Given the description of an element on the screen output the (x, y) to click on. 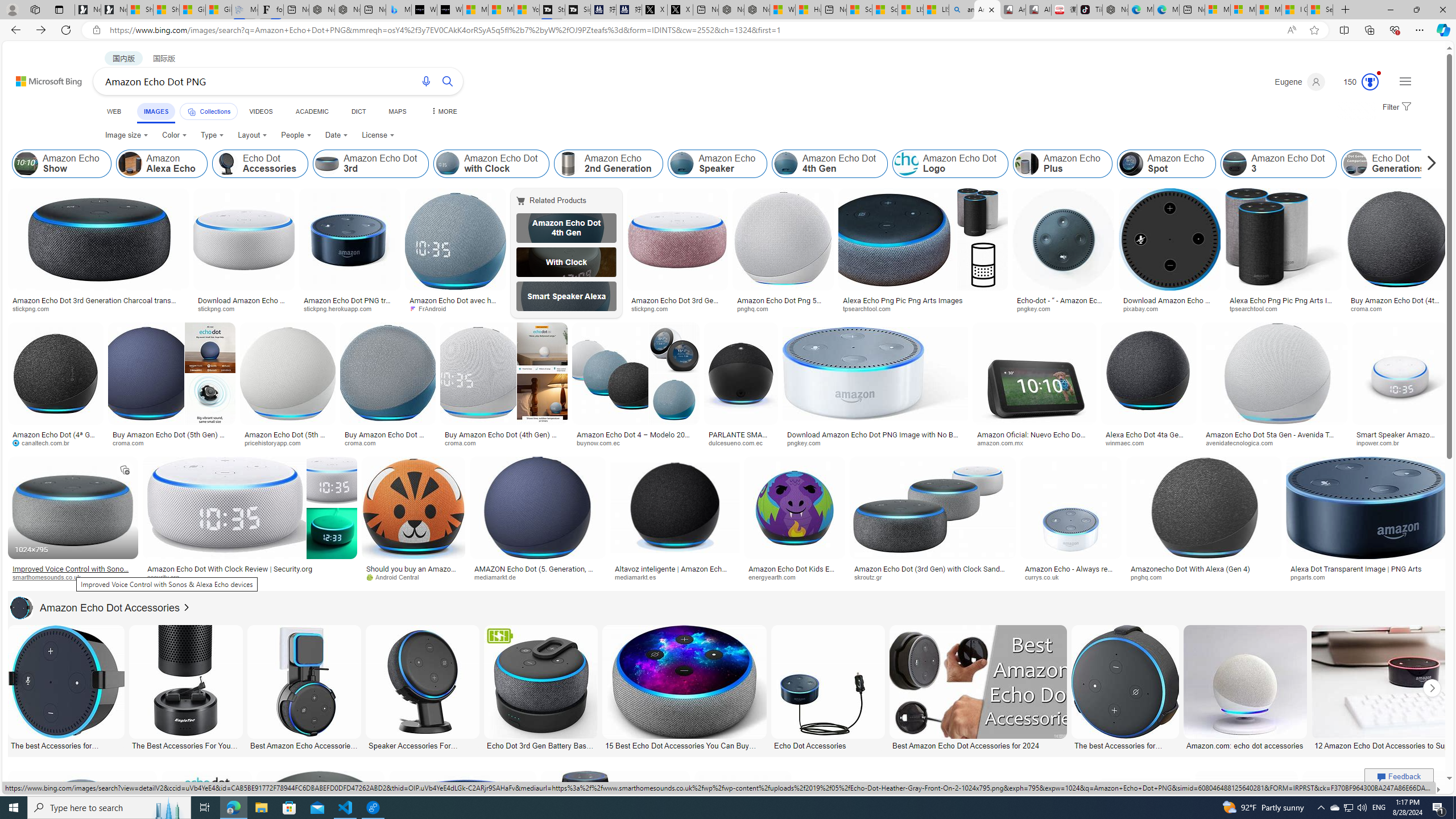
canaltech.com.br (56, 442)
Amazon Echo Dot Logo (949, 163)
Amazon Echo Dot 4th Gen (565, 227)
Amazon Echo Dot With Clock Review | Security.org (249, 568)
Amazon Echo Show (61, 163)
Amazon Echo Dot Logo (905, 163)
Improved Voice Control with Sonos & Alexa Echo devices (72, 572)
People (295, 135)
Settings and quick links (1404, 80)
Smart Speaker Alexa Echo Dot (565, 296)
Alexa Echo Png Pic Png Arts Images (923, 299)
pnghq.com (1150, 576)
